Given the description of an element on the screen output the (x, y) to click on. 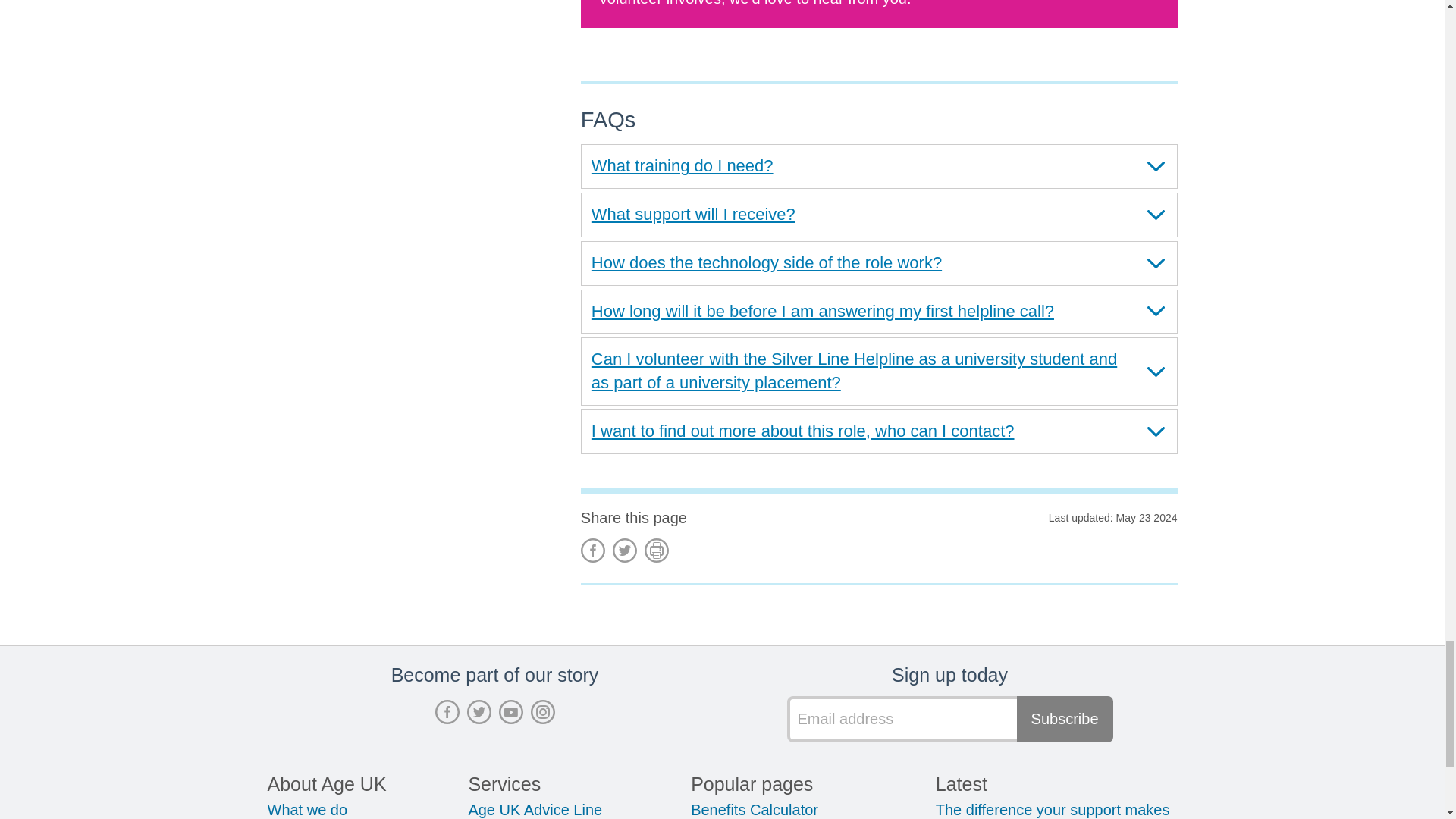
Facebook (447, 711)
Instagram (542, 711)
Subscribe (1064, 719)
Print (656, 550)
Youtube (510, 711)
Twitter (479, 711)
Facebook (592, 550)
Tweet (624, 550)
